Given the description of an element on the screen output the (x, y) to click on. 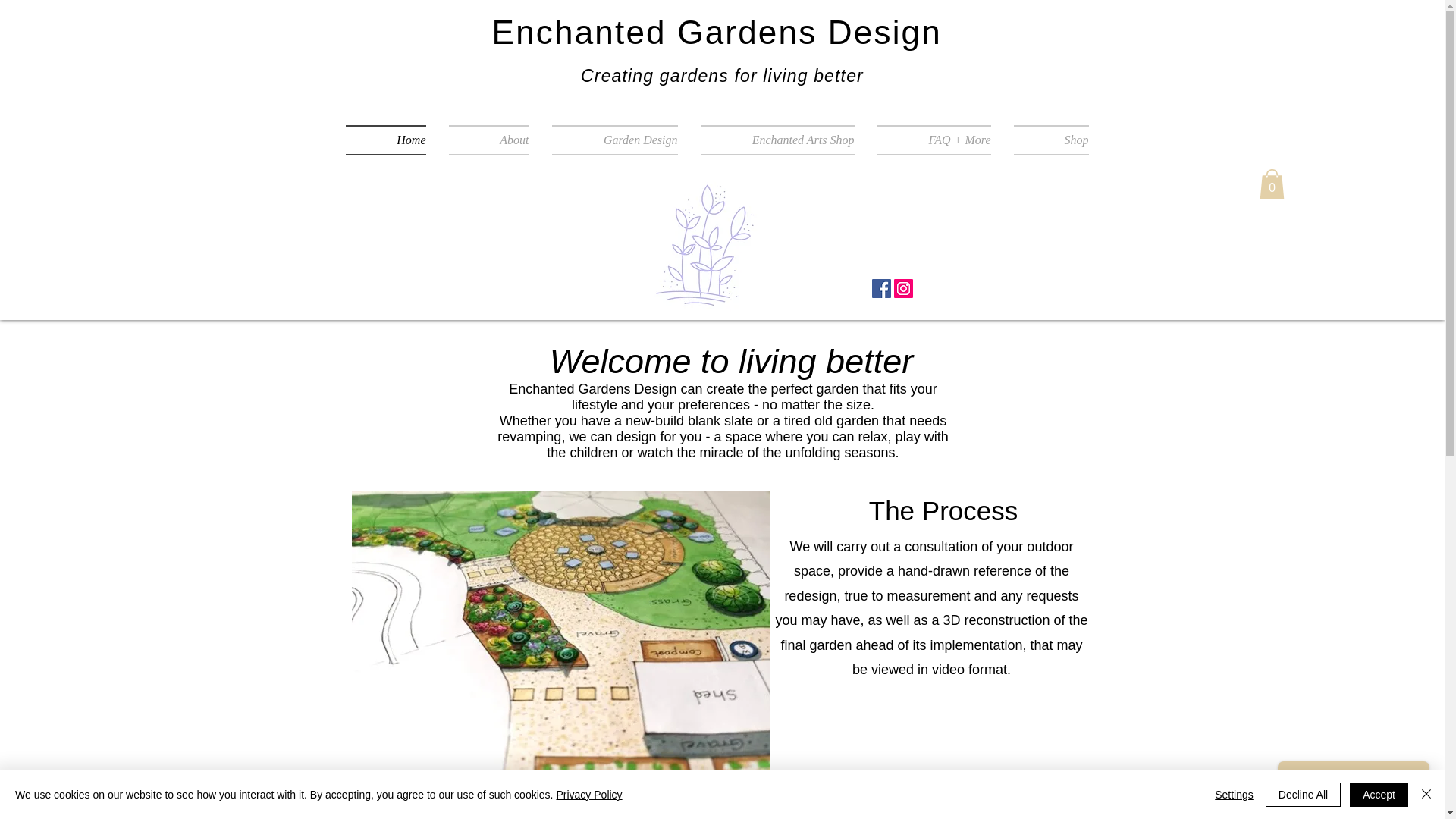
Decline All (1302, 794)
Home (392, 140)
Accept (1378, 794)
Privacy Policy (588, 794)
About (488, 140)
Garden Design (614, 140)
Shop (1046, 140)
Enchanted Arts Shop (776, 140)
